Given the description of an element on the screen output the (x, y) to click on. 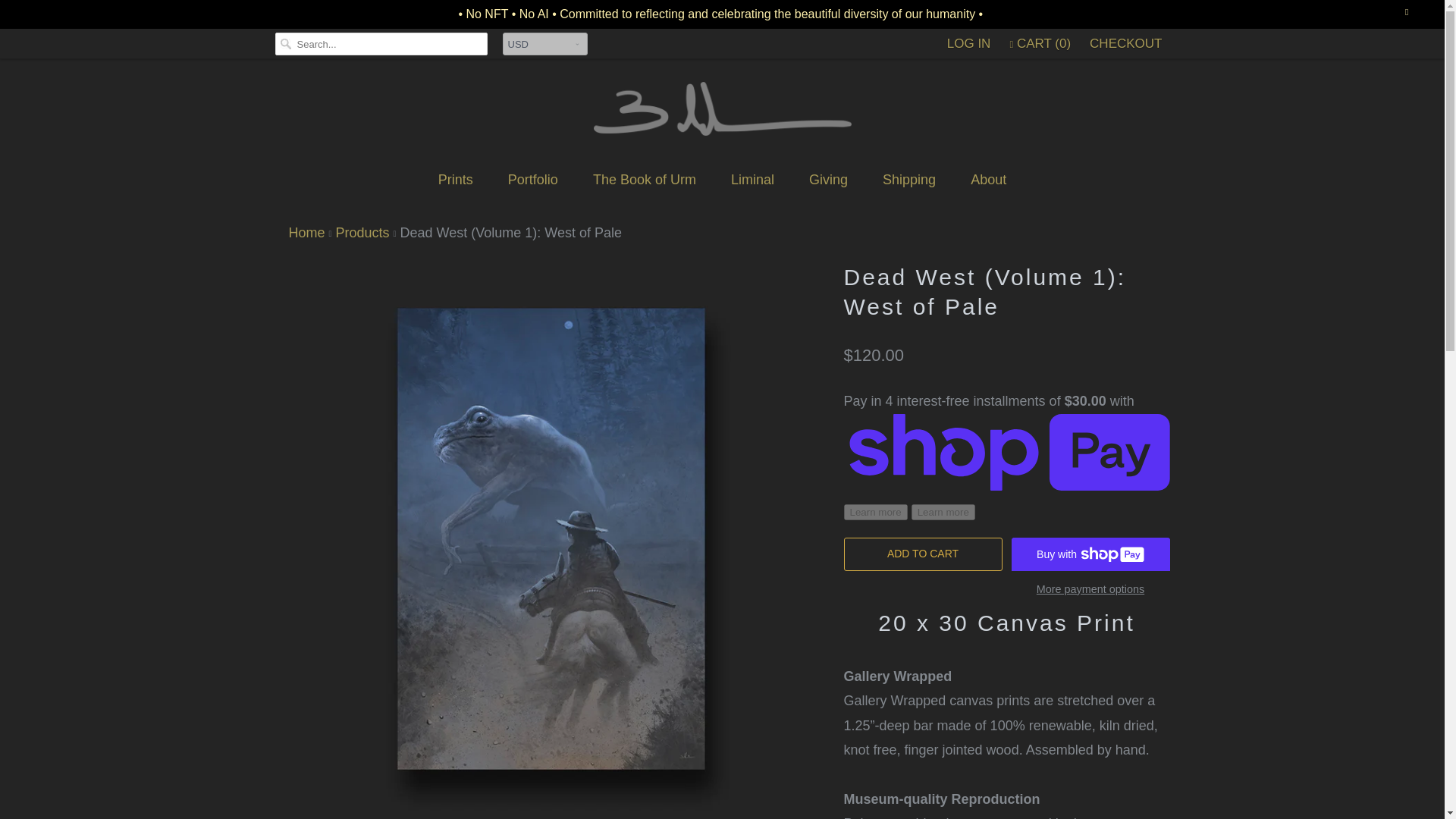
Giving (828, 179)
Products (361, 232)
jasonbehnke (721, 112)
Liminal (752, 179)
CHECKOUT (1125, 43)
ADD TO CART (922, 553)
Prints (455, 179)
About (988, 179)
Shipping (909, 179)
The Book of Urm (643, 179)
jasonbehnke (306, 232)
Products (361, 232)
More payment options (1089, 593)
LOG IN (969, 43)
Home (306, 232)
